Given the description of an element on the screen output the (x, y) to click on. 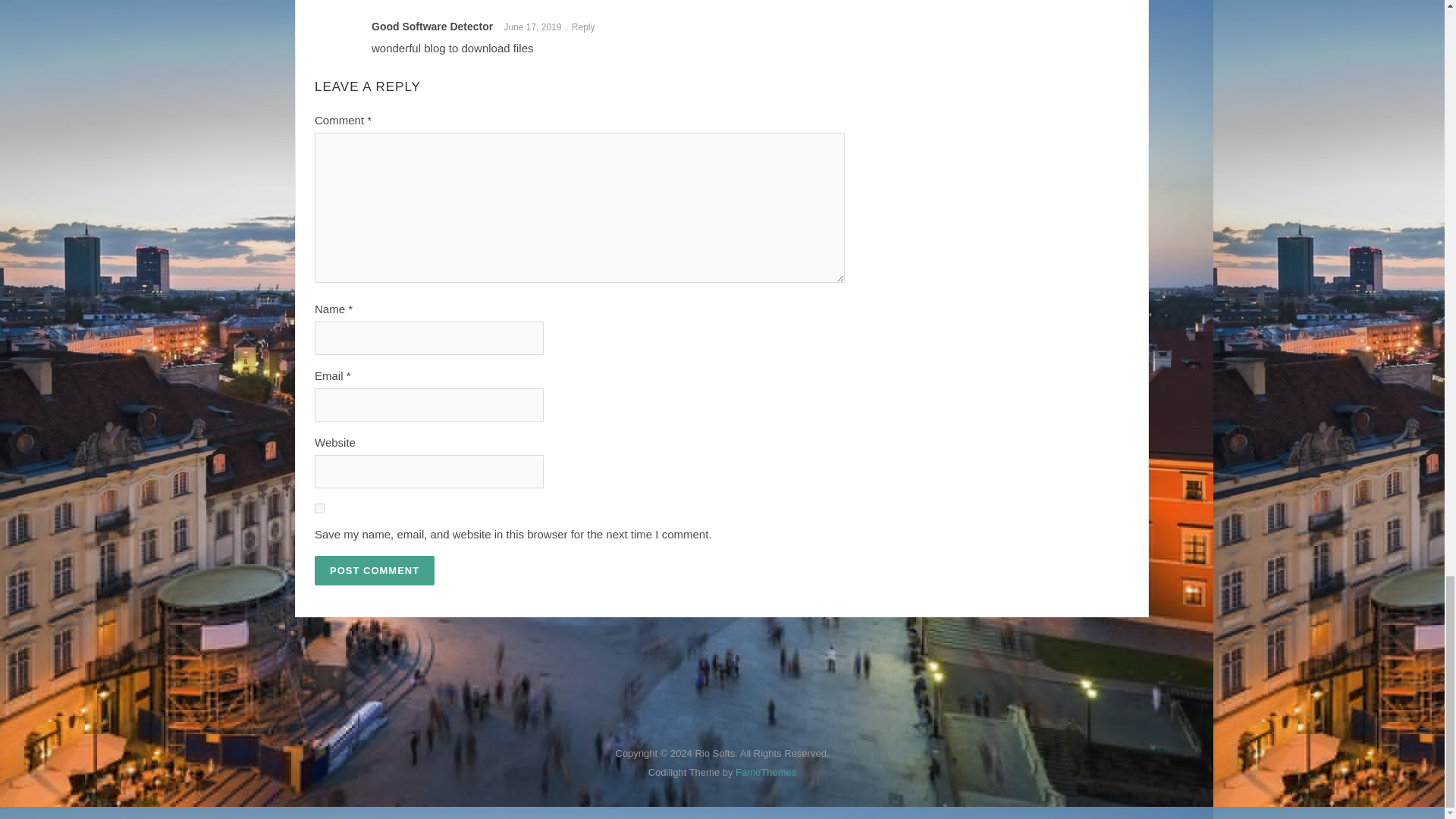
Post Comment (373, 570)
June 17, 2019 (536, 27)
Post Comment (373, 570)
Reply (587, 27)
yes (319, 508)
